Given the description of an element on the screen output the (x, y) to click on. 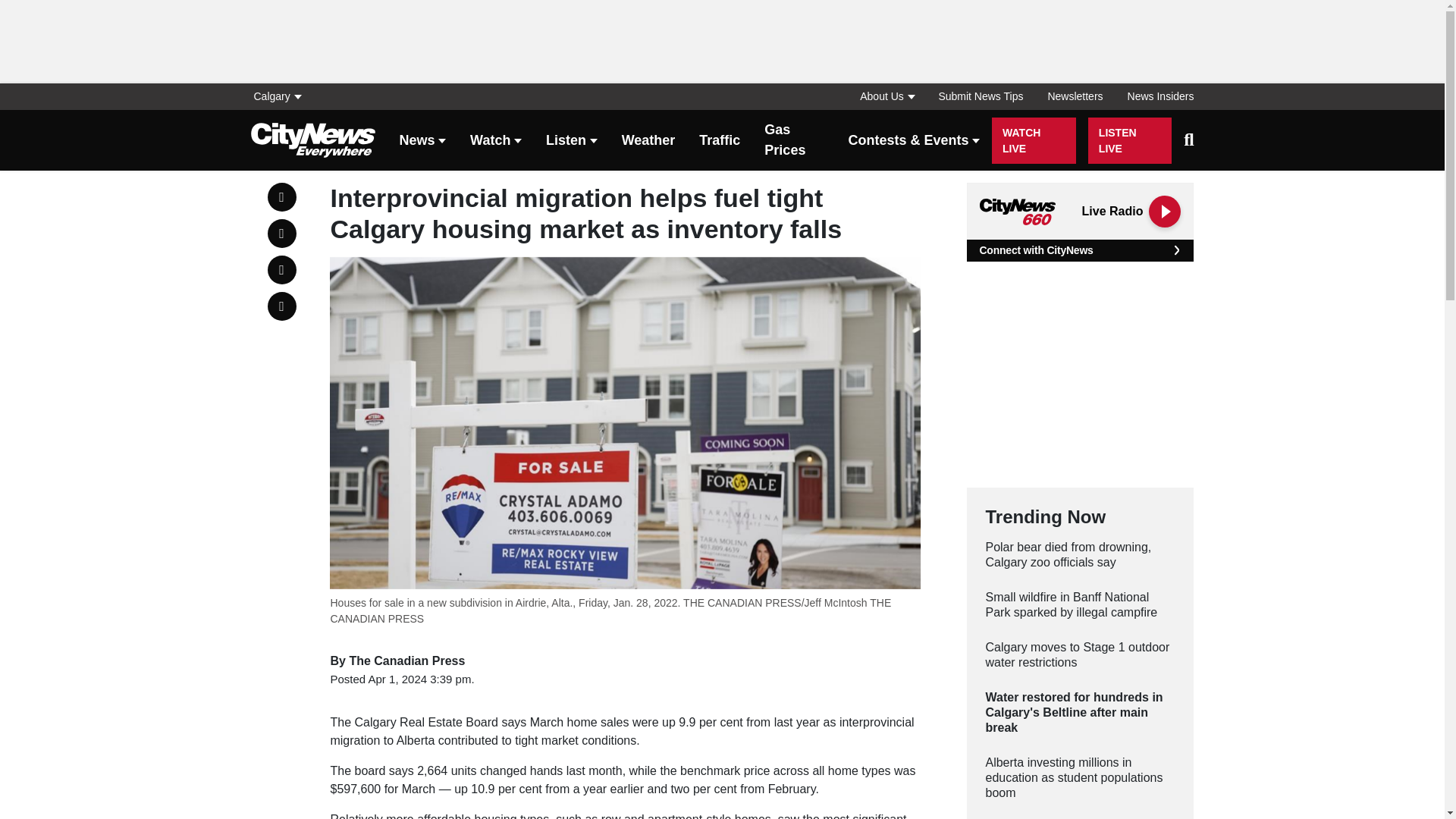
News Insiders (1154, 96)
Newsletters (1075, 96)
Polar bear died from drowning, Calgary zoo officials say (1079, 554)
Listen (571, 140)
Watch (495, 140)
Calgary (281, 96)
Calgary moves to Stage 1 outdoor water restrictions (1079, 654)
Submit News Tips (980, 96)
News (421, 140)
About Us (886, 96)
